Given the description of an element on the screen output the (x, y) to click on. 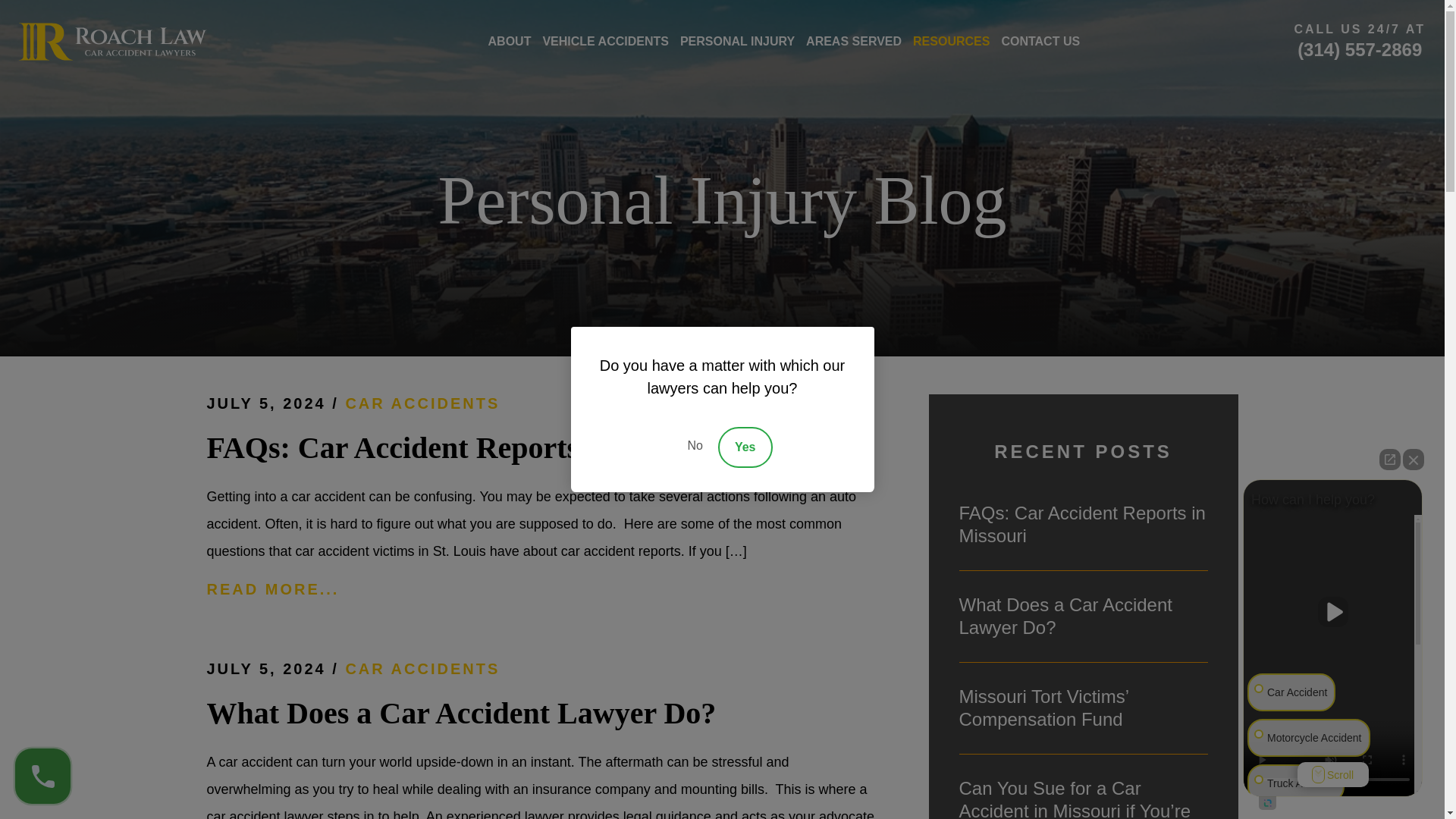
CONTACT US (1040, 41)
READ MORE... (541, 588)
PERSONAL INJURY (736, 41)
AREAS SERVED (853, 41)
What Does a Car Accident Lawyer Do? (1082, 616)
RESOURCES (951, 41)
ABOUT (509, 41)
VEHICLE ACCIDENTS (604, 41)
CAR ACCIDENTS (422, 668)
CAR ACCIDENTS (422, 402)
FAQs: Car Accident Reports in Missouri (1082, 524)
